Given the description of an element on the screen output the (x, y) to click on. 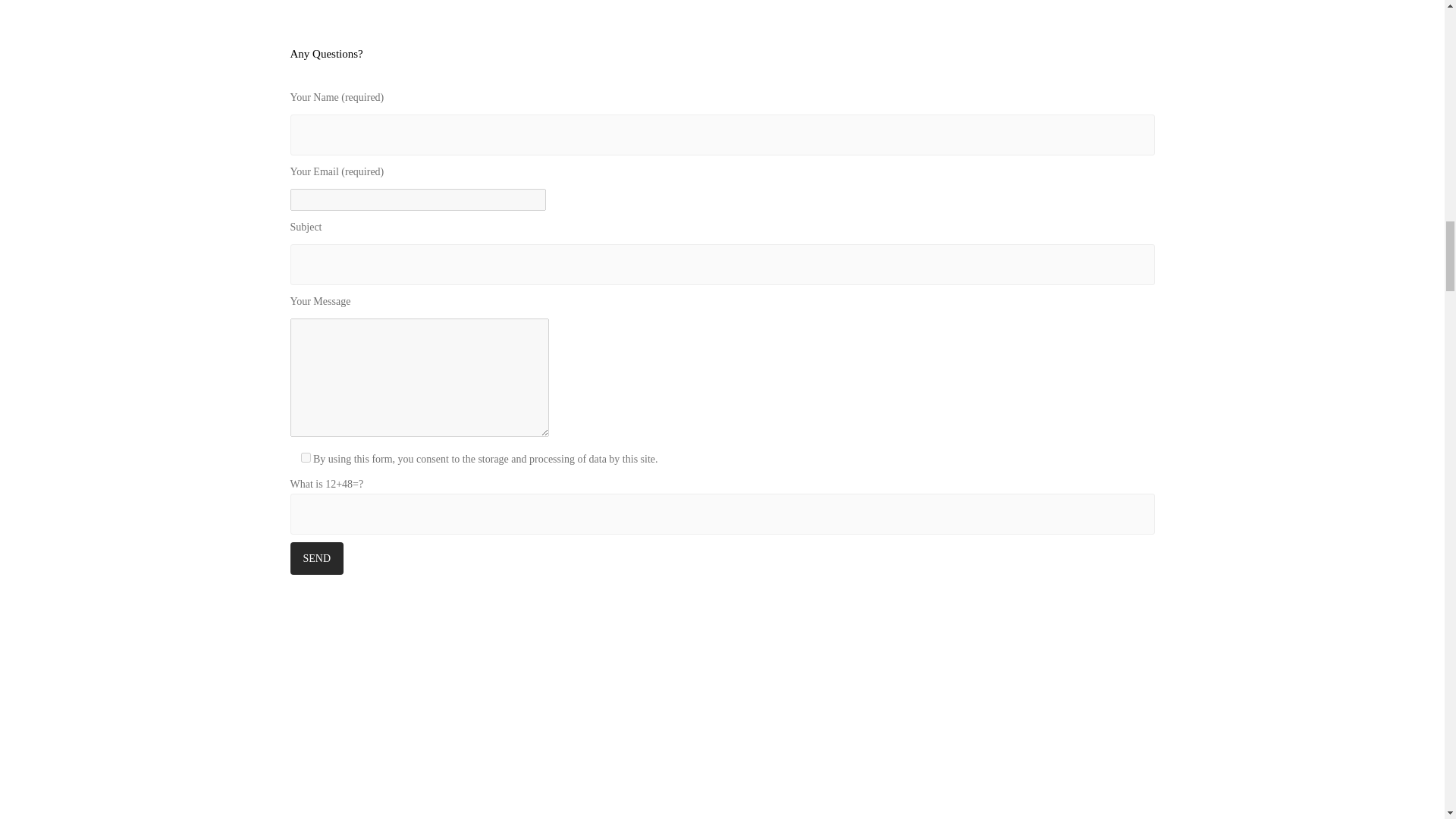
Send (316, 558)
1 (304, 457)
Send (316, 558)
